Given the description of an element on the screen output the (x, y) to click on. 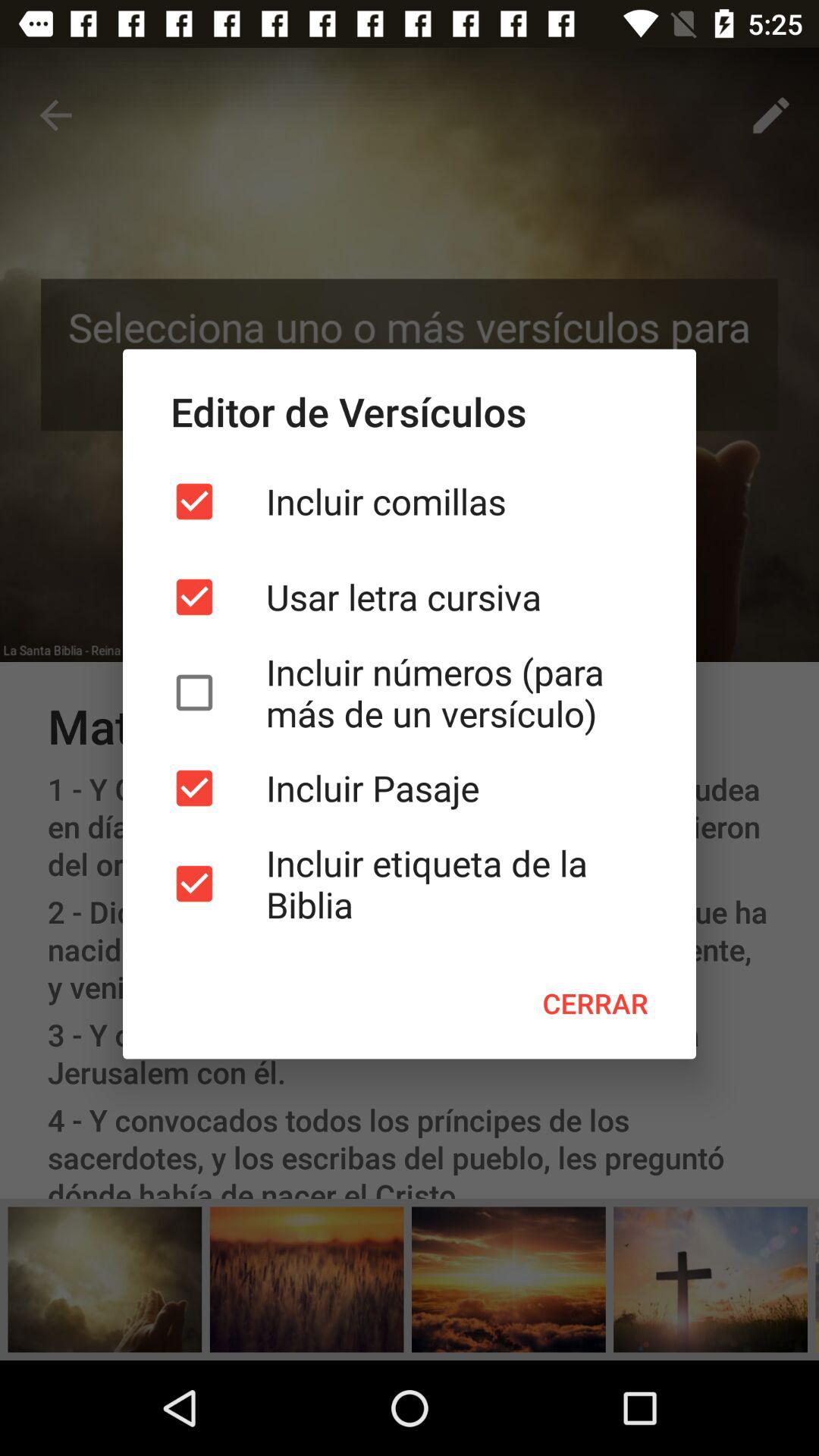
click icon at the bottom right corner (595, 1003)
